Given the description of an element on the screen output the (x, y) to click on. 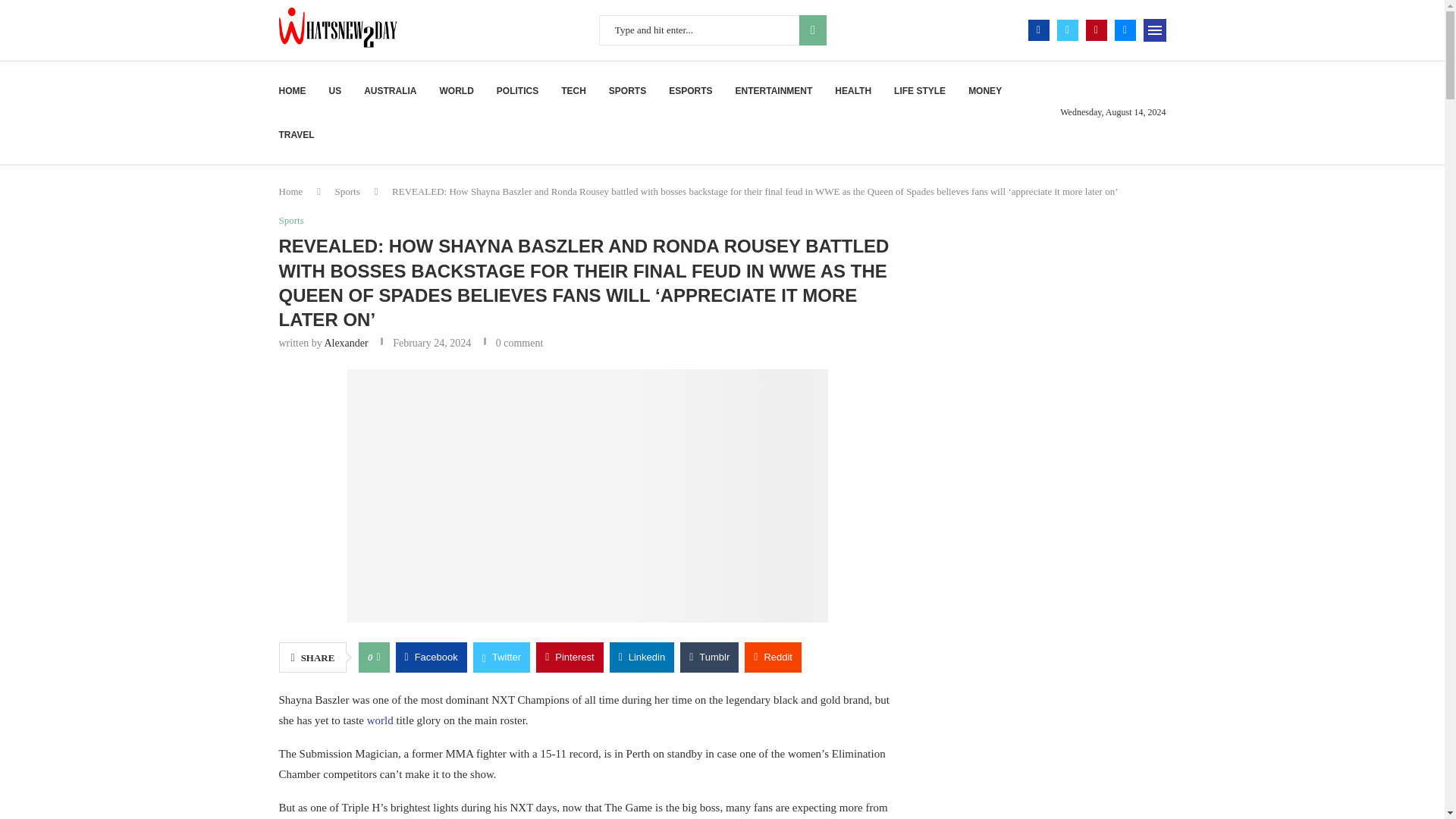
POLITICS (517, 90)
AUSTRALIA (390, 90)
SEARCH (813, 30)
LIFE STYLE (918, 90)
ESPORTS (689, 90)
ENTERTAINMENT (773, 90)
